Given the description of an element on the screen output the (x, y) to click on. 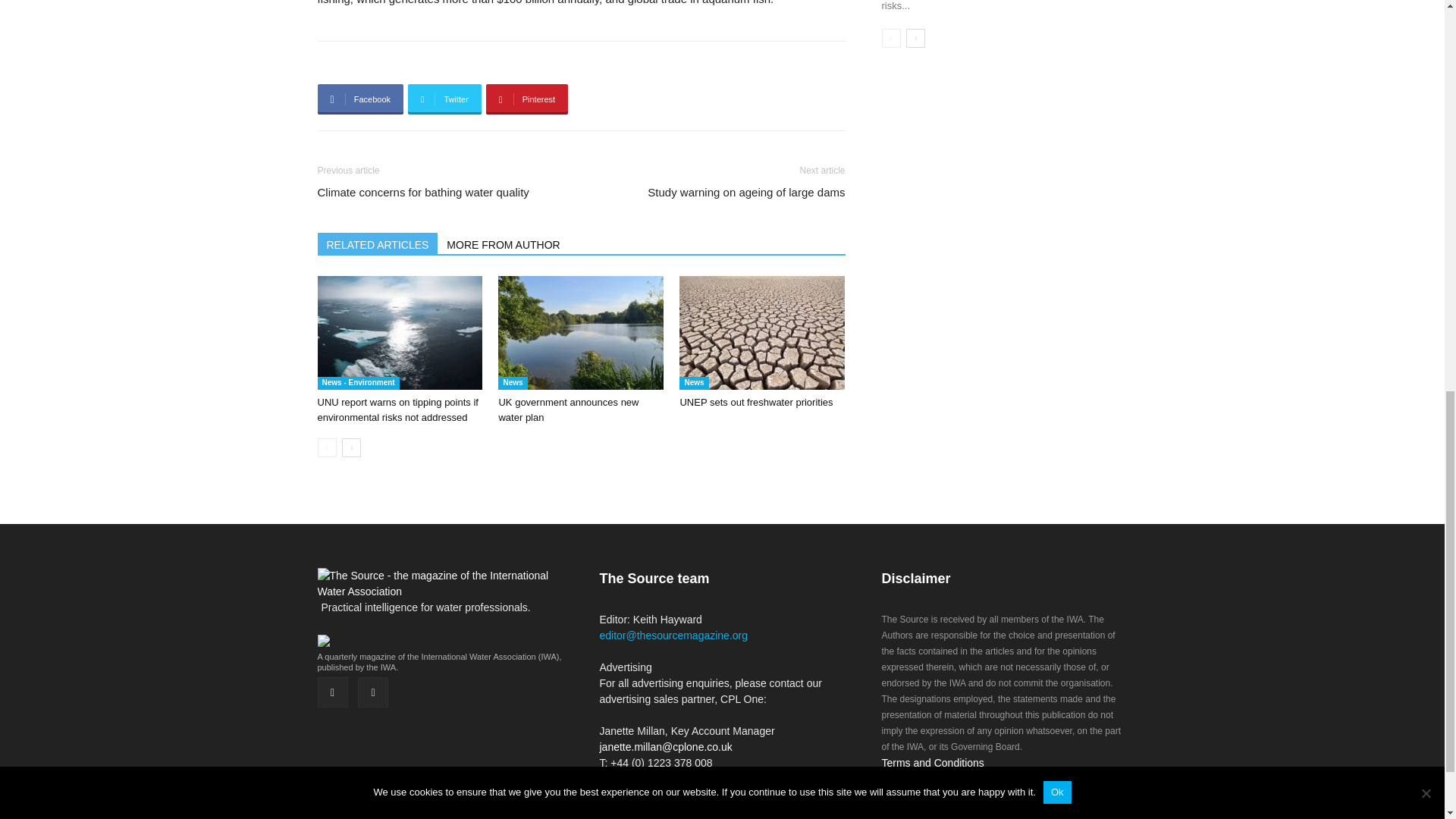
UK government announces new water plan (580, 332)
UNEP sets out freshwater priorities (755, 401)
UNEP sets out freshwater priorities (761, 332)
UK government announces new water plan (568, 409)
